Given the description of an element on the screen output the (x, y) to click on. 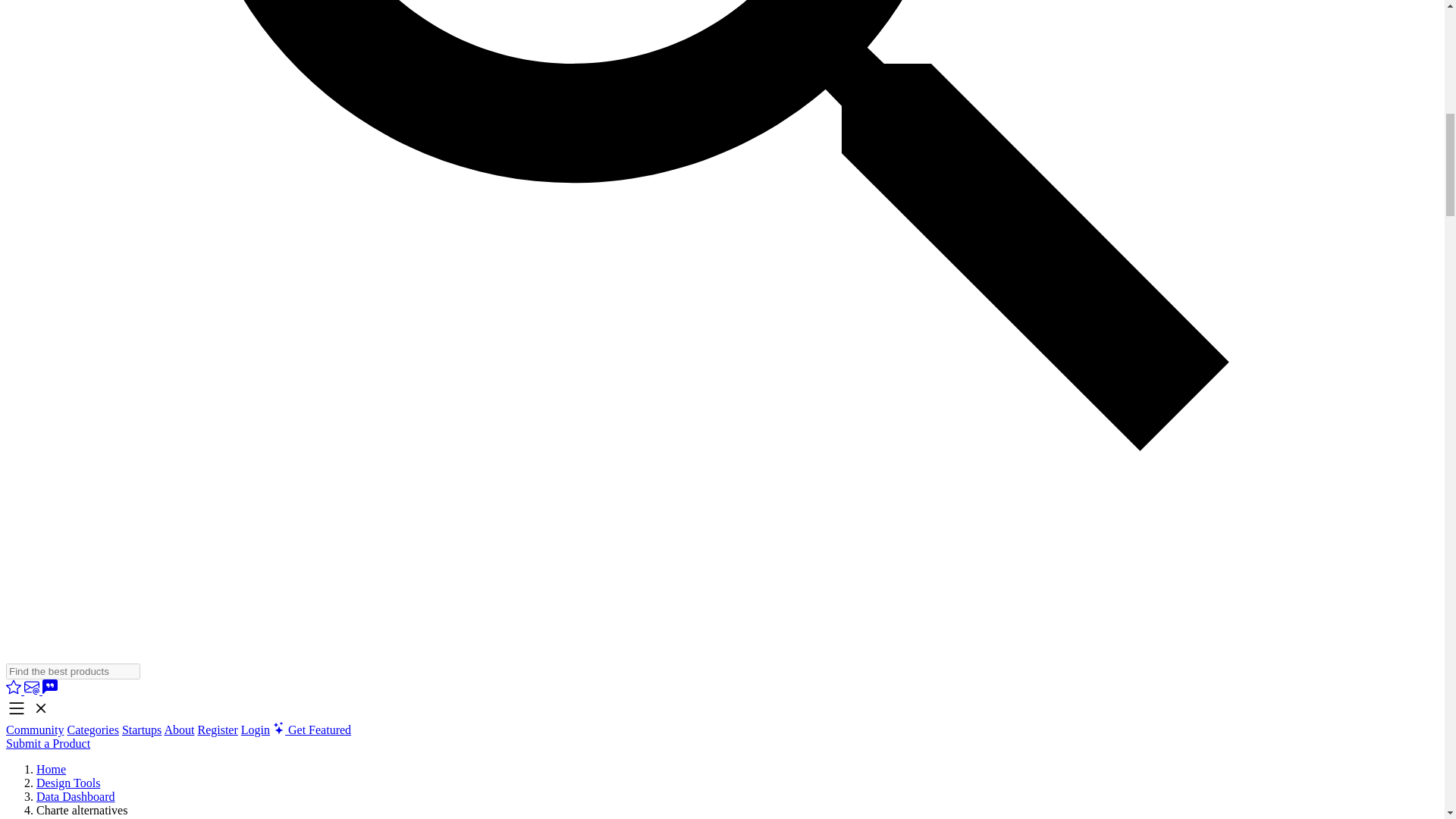
Register (216, 729)
About (178, 729)
Home (50, 768)
Categories (91, 729)
Submit a Product (47, 743)
Community (34, 729)
Login (255, 729)
Data Dashboard (75, 796)
My Saved Products (14, 689)
Design Tools (68, 782)
Startups (141, 729)
SaaSHub Weekly - our newsletter (33, 689)
Get Featured (311, 729)
